Given the description of an element on the screen output the (x, y) to click on. 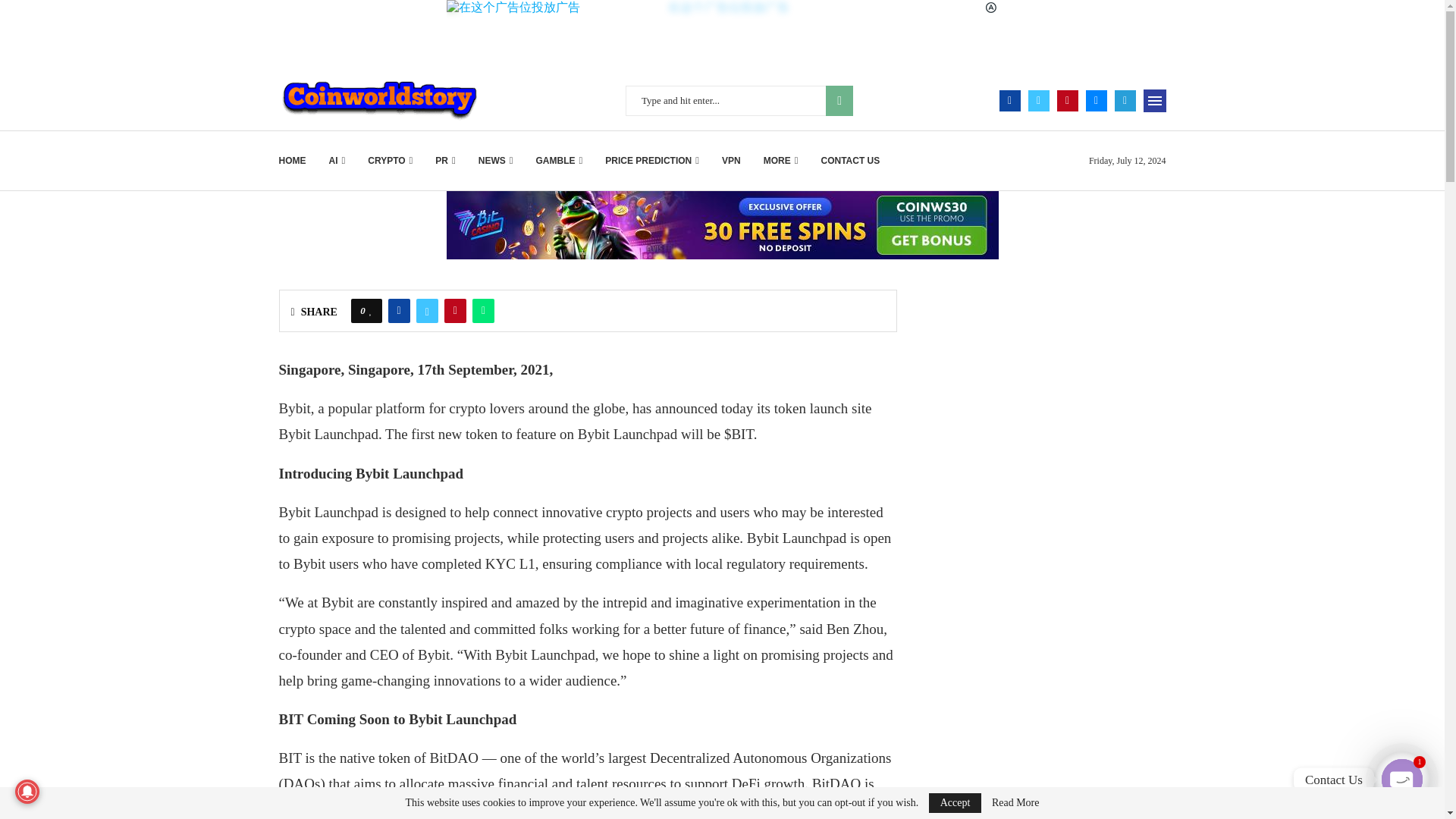
Like (370, 310)
